Given the description of an element on the screen output the (x, y) to click on. 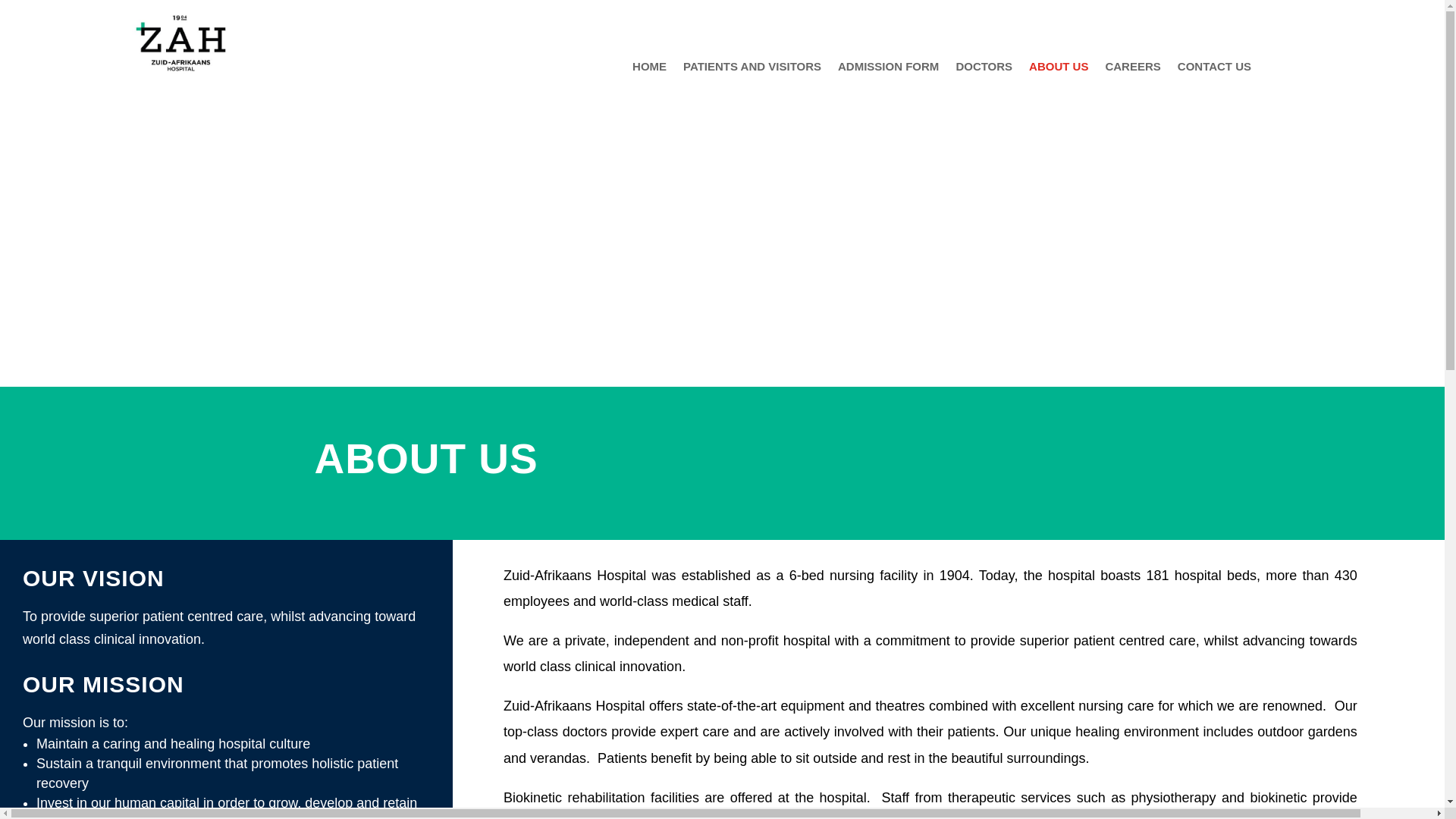
ABOUT US (1058, 69)
PATIENTS AND VISITORS (751, 69)
HOME (648, 69)
ADMISSION FORM (888, 69)
DOCTORS (983, 69)
CAREERS (1132, 69)
CONTACT US (1213, 69)
Zuid Afrikaans Hospital Stacked Logo (181, 42)
